Given the description of an element on the screen output the (x, y) to click on. 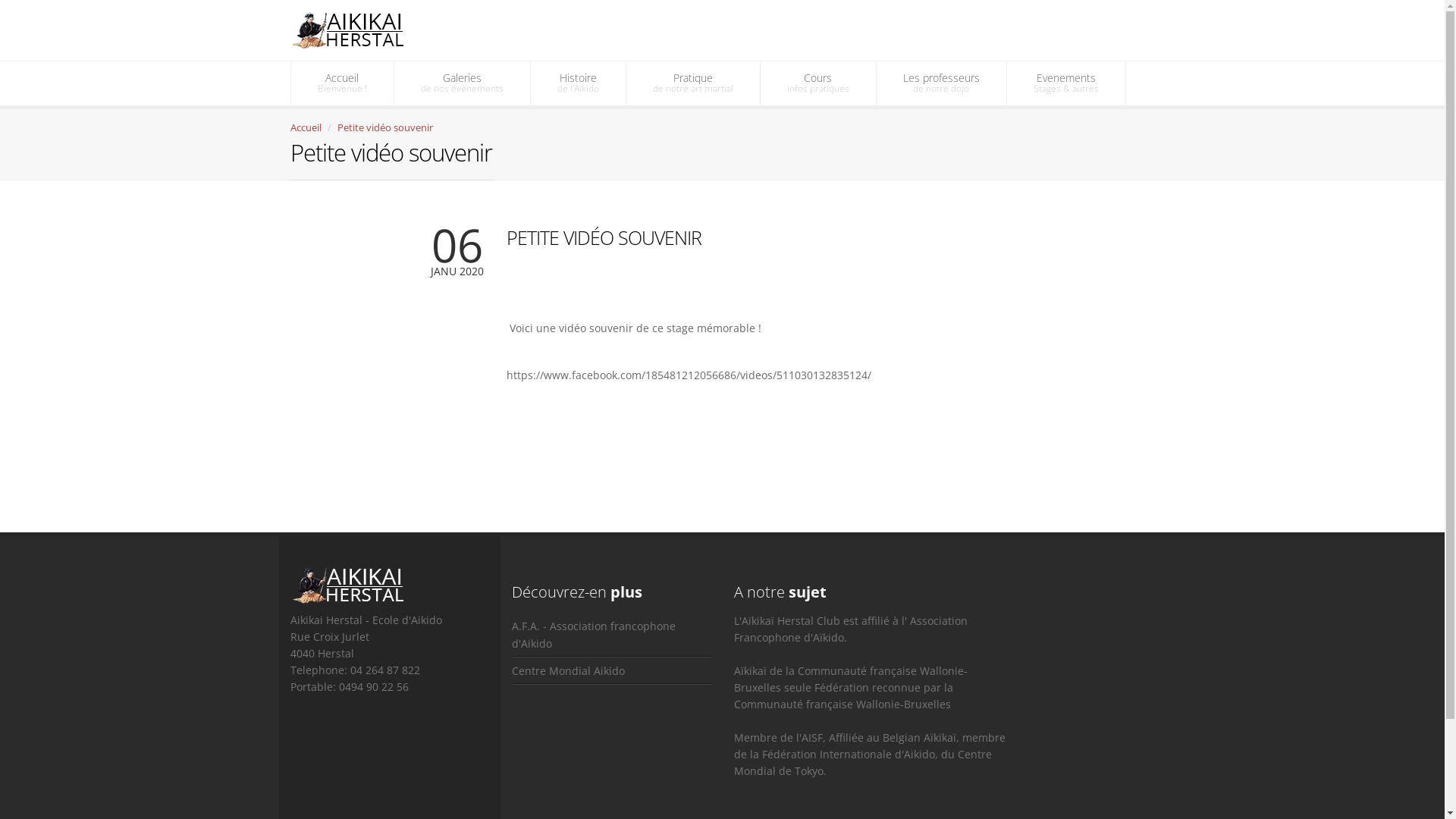
Cours
infos pratiques Element type: text (817, 83)
Evenements
Stages & autres Element type: text (1066, 83)
Histoire
de l'Aikido Element type: text (577, 83)
Accueil Element type: text (304, 127)
A.F.A. - Association francophone d'Aikido Element type: text (611, 634)
Pratique
de notre art martial Element type: text (692, 83)
Accueil
Bienvenue ! Element type: text (342, 83)
Centre Mondial Aikido Element type: text (611, 670)
Les professeurs
de notre dojo Element type: text (941, 83)
